Given the description of an element on the screen output the (x, y) to click on. 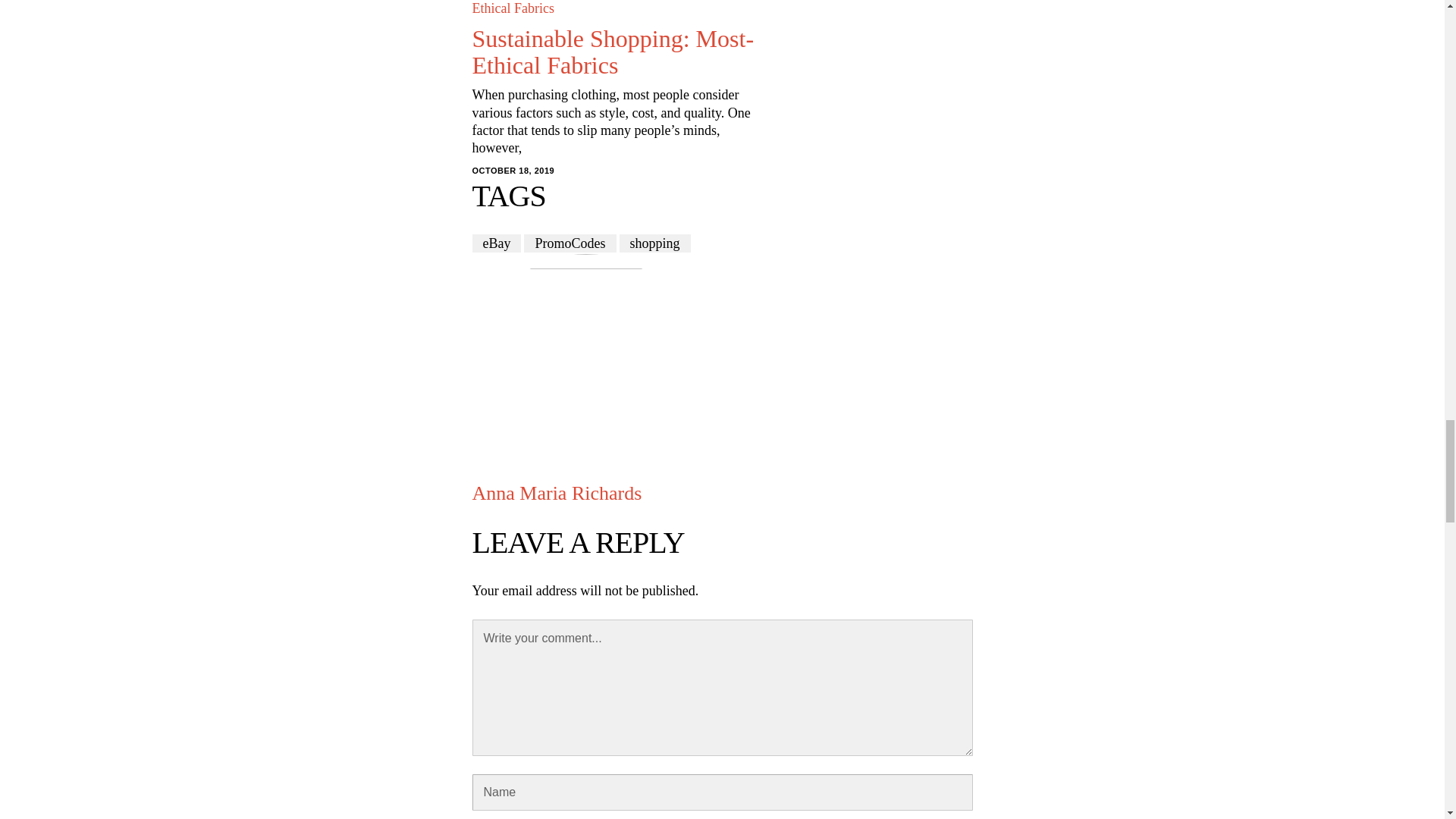
18 Oct, 2019 19:50:09 (512, 170)
